Given the description of an element on the screen output the (x, y) to click on. 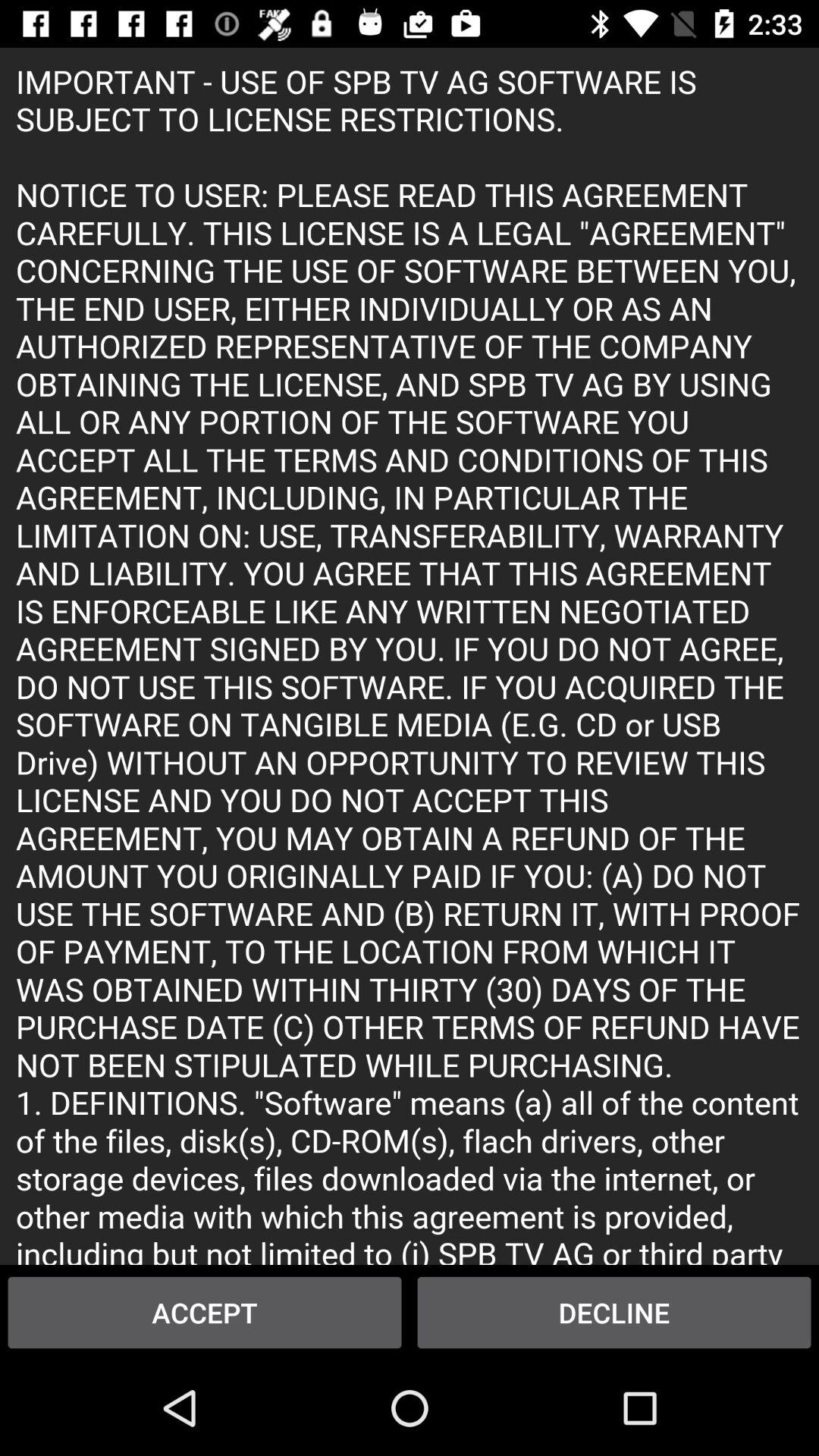
click the icon above the accept (409, 655)
